Given the description of an element on the screen output the (x, y) to click on. 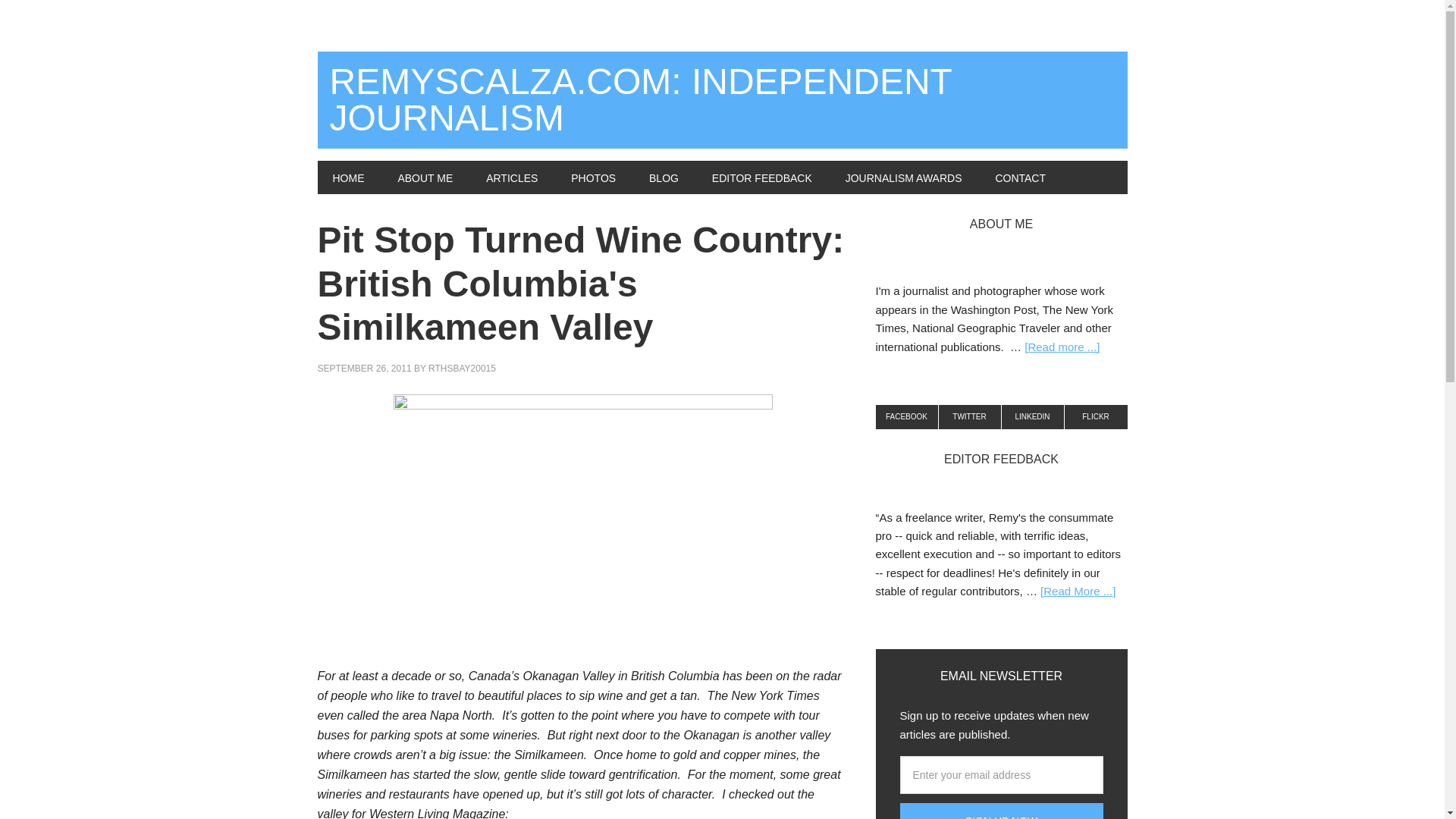
REMYSCALZA.COM: INDEPENDENT JOURNALISM (721, 99)
ARTICLES (511, 177)
FACEBOOK (906, 416)
Sign up now (1000, 811)
ABOUT ME (424, 177)
CONTACT (1020, 177)
EDITOR FEEDBACK (762, 177)
RTHSBAY20015 (462, 368)
PHOTOS (593, 177)
Sign up now (1000, 811)
